Given the description of an element on the screen output the (x, y) to click on. 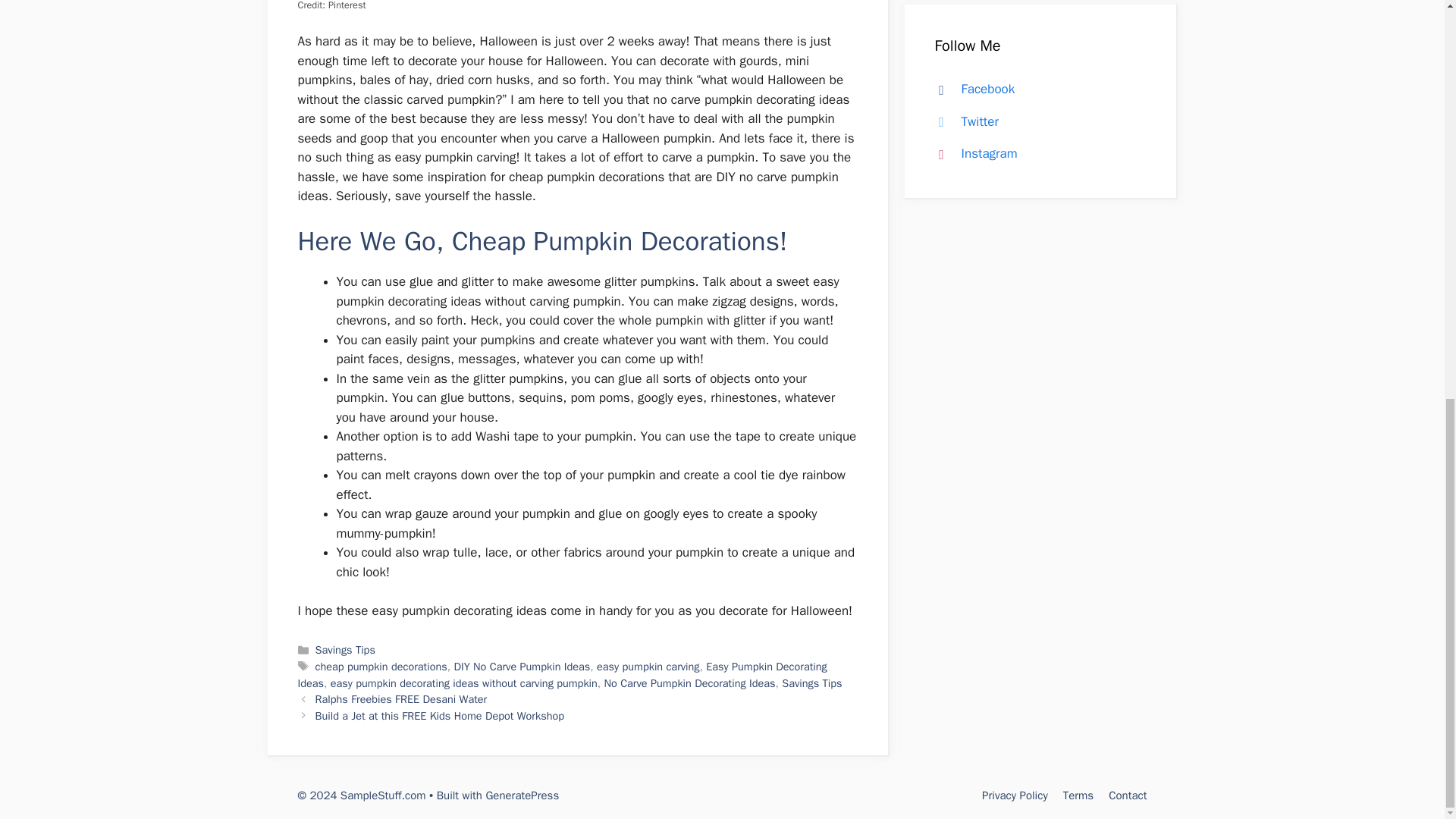
easy pumpkin decorating ideas without carving pumpkin (463, 683)
Build a Jet at this FREE Kids Home Depot Workshop (439, 715)
Terms (1077, 795)
easy pumpkin carving (648, 666)
Previous (401, 698)
Privacy Policy (1014, 795)
Savings Tips (345, 649)
DIY No Carve Pumpkin Ideas (520, 666)
Ralphs Freebies FREE Desani Water (401, 698)
Next (439, 715)
Instagram (972, 153)
Facebook (971, 89)
Savings Tips (811, 683)
Easy Pumpkin Decorating Ideas (562, 675)
No Carve Pumpkin Decorating Ideas (690, 683)
